Given the description of an element on the screen output the (x, y) to click on. 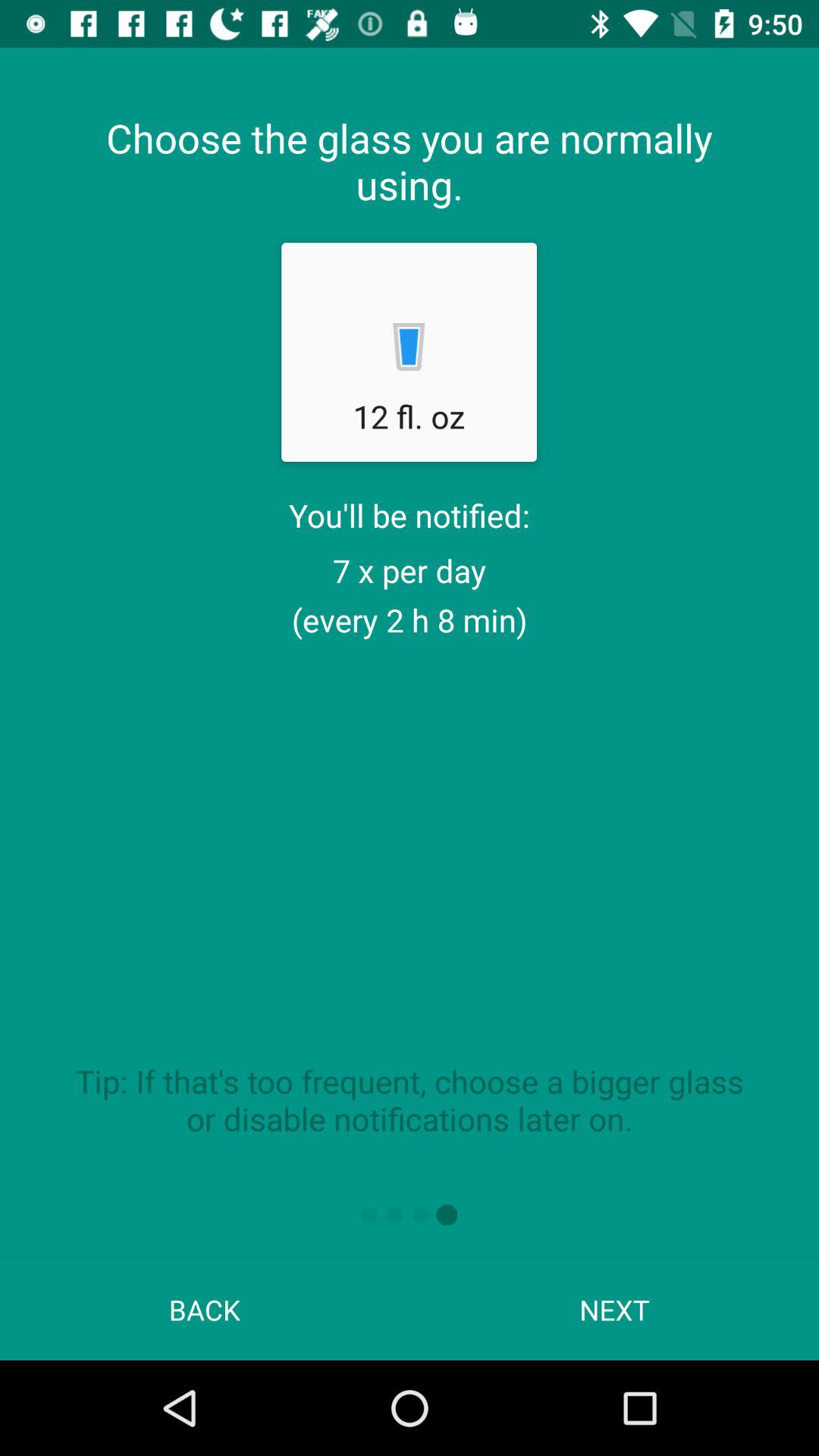
click the next app (614, 1309)
